Given the description of an element on the screen output the (x, y) to click on. 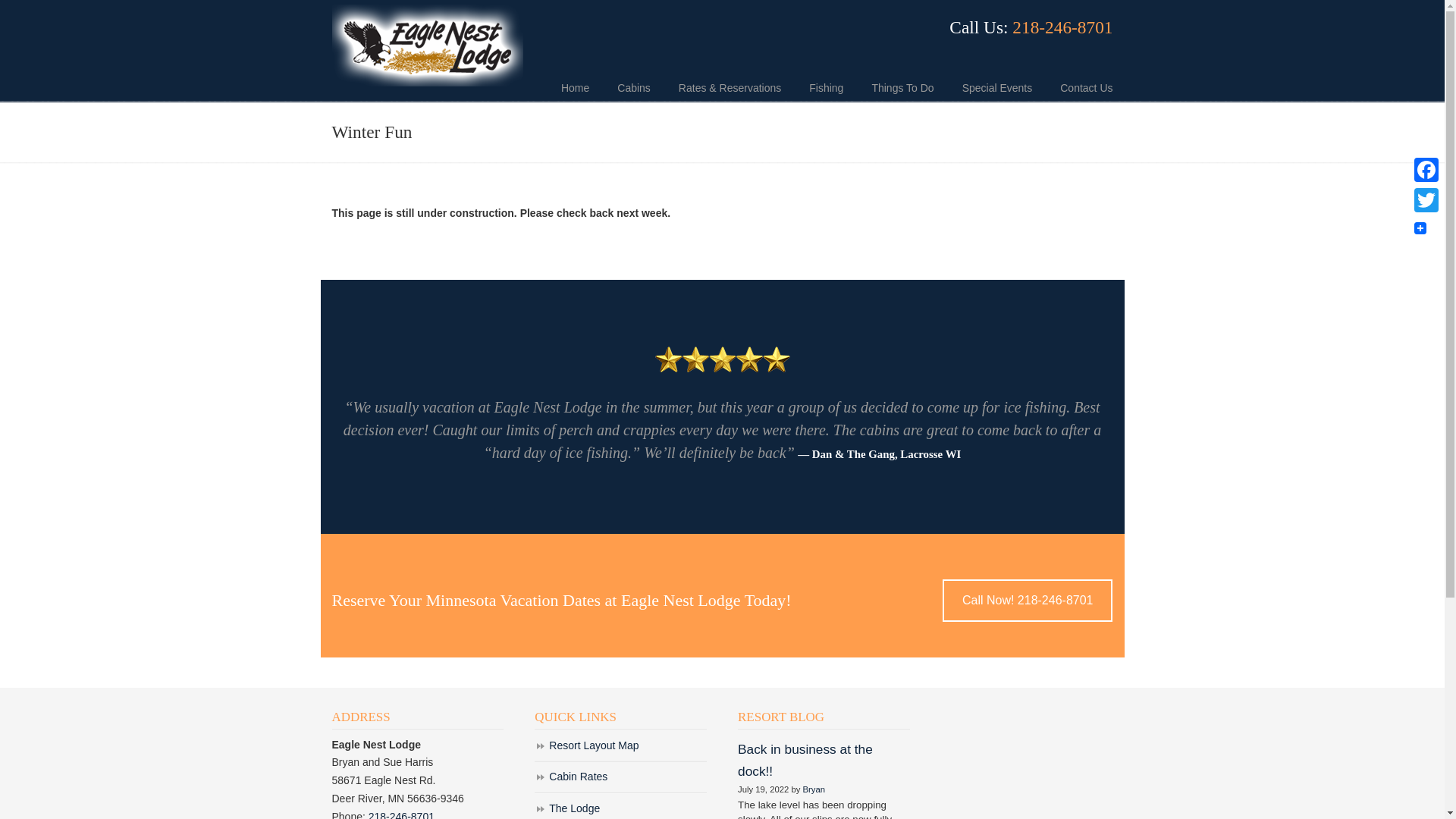
Things To Do (902, 88)
Cabins (633, 88)
218-246-8701 (1061, 26)
Facebook (1425, 169)
Home (575, 88)
Fishing (826, 88)
Posts by Bryan (813, 788)
Back in business at the dock!! (805, 760)
Twitter (1425, 200)
